Given the description of an element on the screen output the (x, y) to click on. 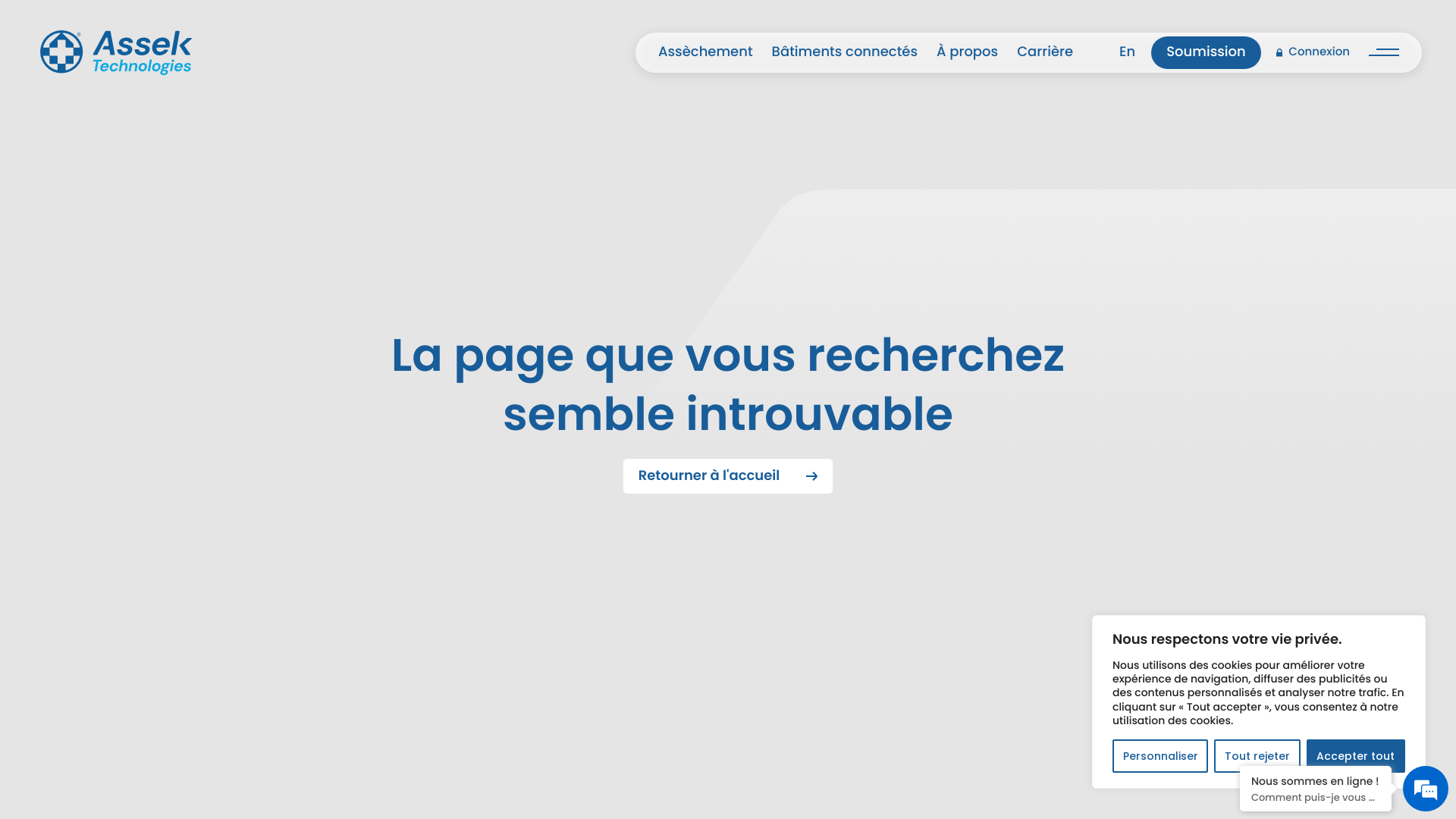
Soumission Element type: text (1206, 52)
Tout rejeter Element type: text (1256, 755)
M'inscrire Element type: text (722, 704)
En Element type: text (1127, 52)
Personnaliser Element type: text (1160, 755)
Accepter tout Element type: text (1355, 755)
